Given the description of an element on the screen output the (x, y) to click on. 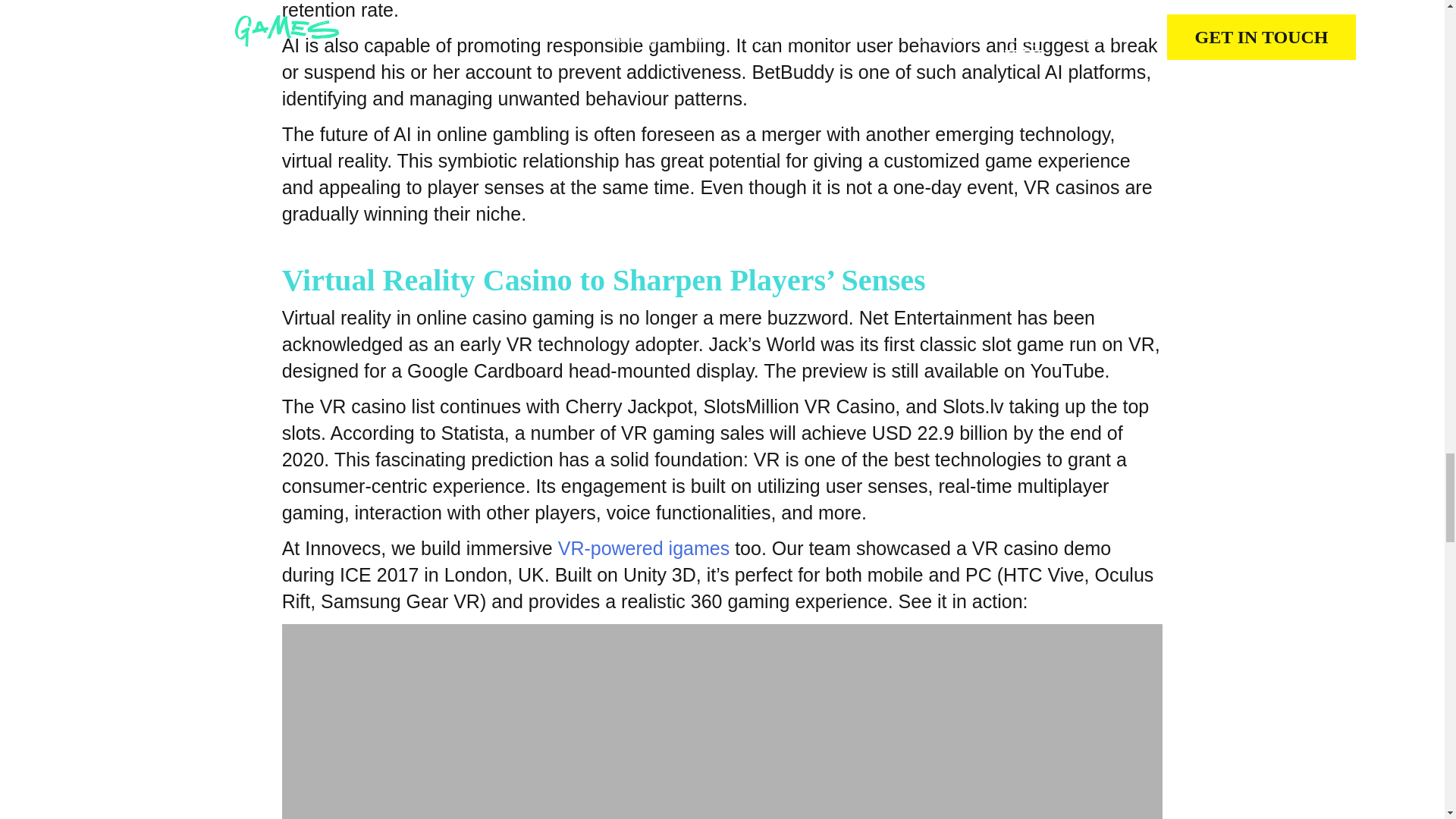
VR-powered igames (643, 547)
